Given the description of an element on the screen output the (x, y) to click on. 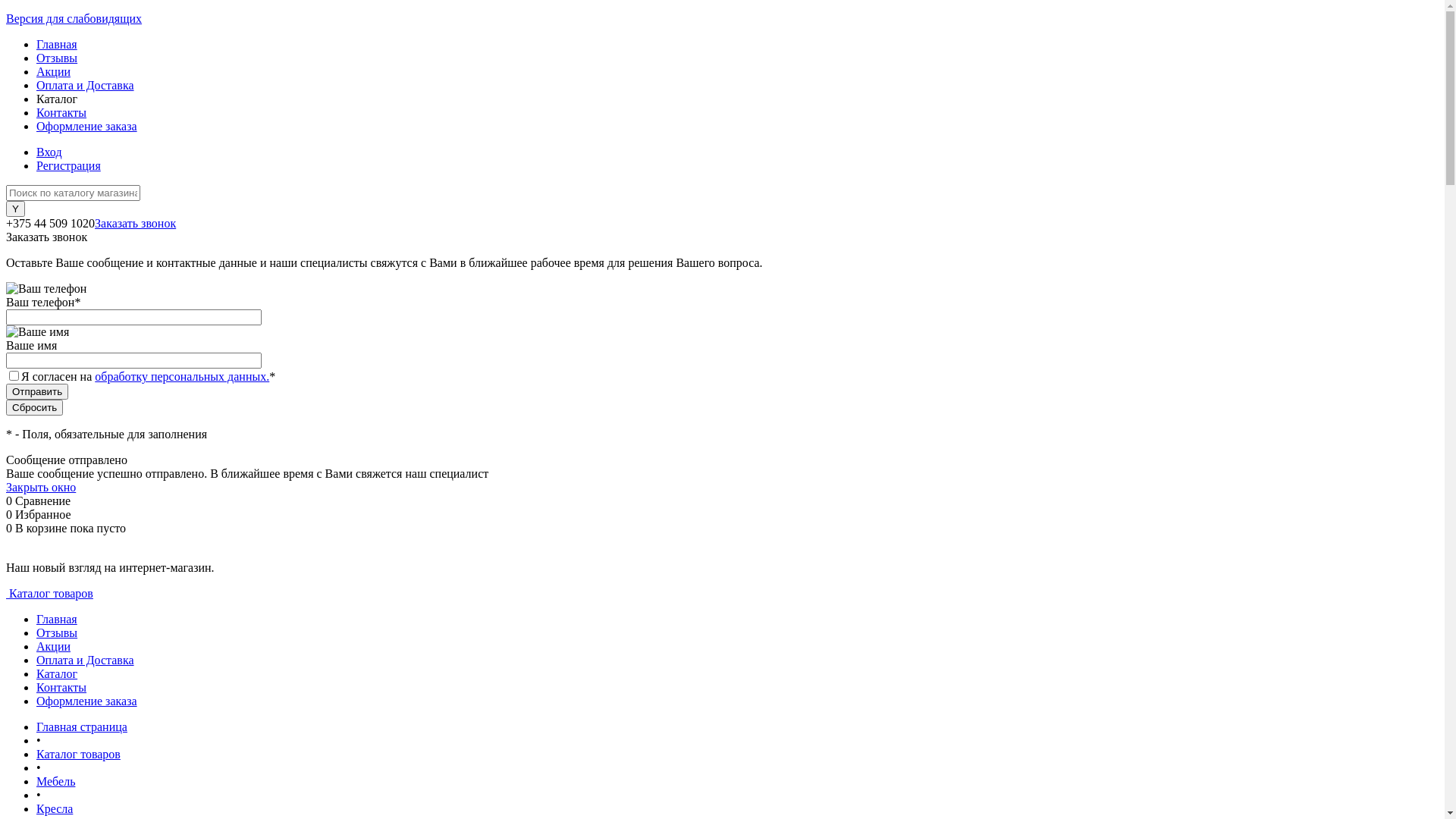
0 Element type: text (10, 514)
Y Element type: text (15, 208)
0 Element type: text (10, 500)
0 Element type: text (10, 527)
